Given the description of an element on the screen output the (x, y) to click on. 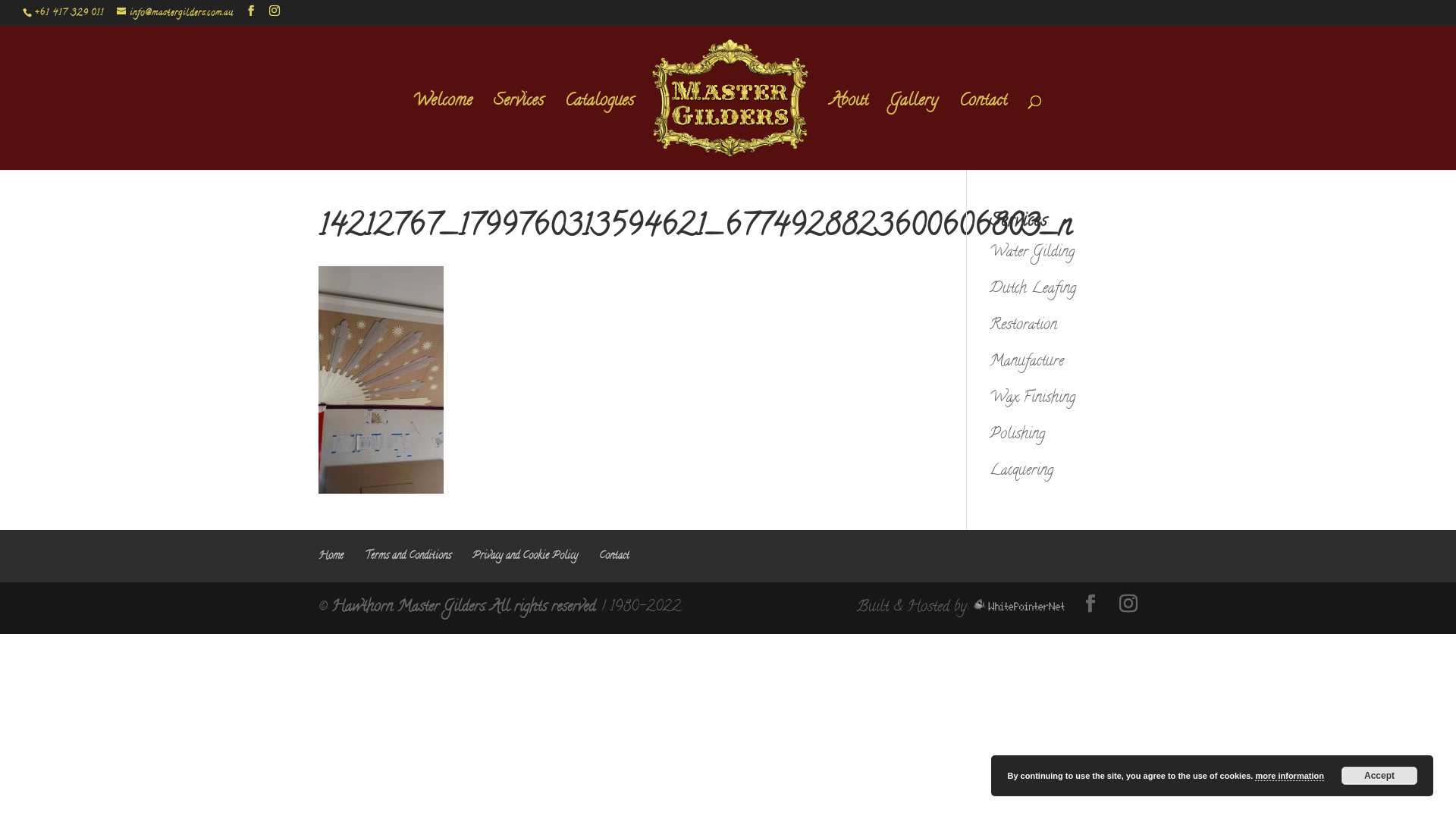
Services Element type: text (518, 132)
Polishing Element type: text (1016, 434)
Terms and Conditions Element type: text (407, 556)
Restoration Element type: text (1023, 325)
Accept Element type: text (1379, 775)
Contact Element type: text (614, 556)
Hawthorn Master Gilders. All rights reserved. Element type: text (463, 607)
Contact Element type: text (983, 132)
Privacy and Cookie Policy Element type: text (524, 556)
About Element type: text (849, 132)
Lacquering Element type: text (1021, 471)
Wax Finishing Element type: text (1032, 398)
Manufacture Element type: text (1026, 361)
more information Element type: text (1289, 776)
Home Element type: text (330, 556)
Catalogues Element type: text (598, 132)
Welcome Element type: text (442, 132)
Dutch Leafing Element type: text (1032, 289)
info@mastergilders.com.au Element type: text (174, 13)
Gallery Element type: text (913, 132)
Water Gilding Element type: text (1031, 252)
